Given the description of an element on the screen output the (x, y) to click on. 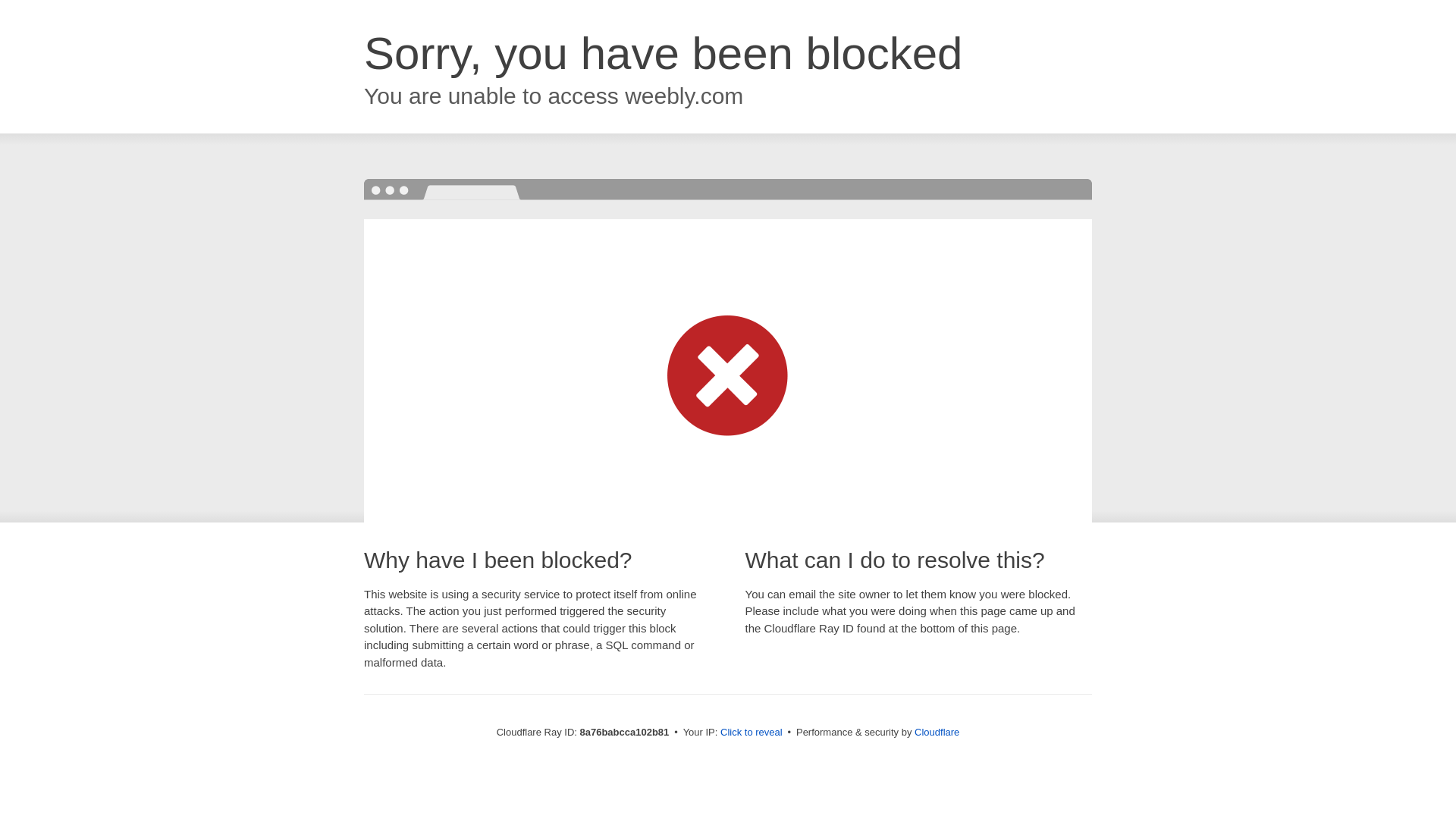
Click to reveal (751, 732)
Cloudflare (936, 731)
